Given the description of an element on the screen output the (x, y) to click on. 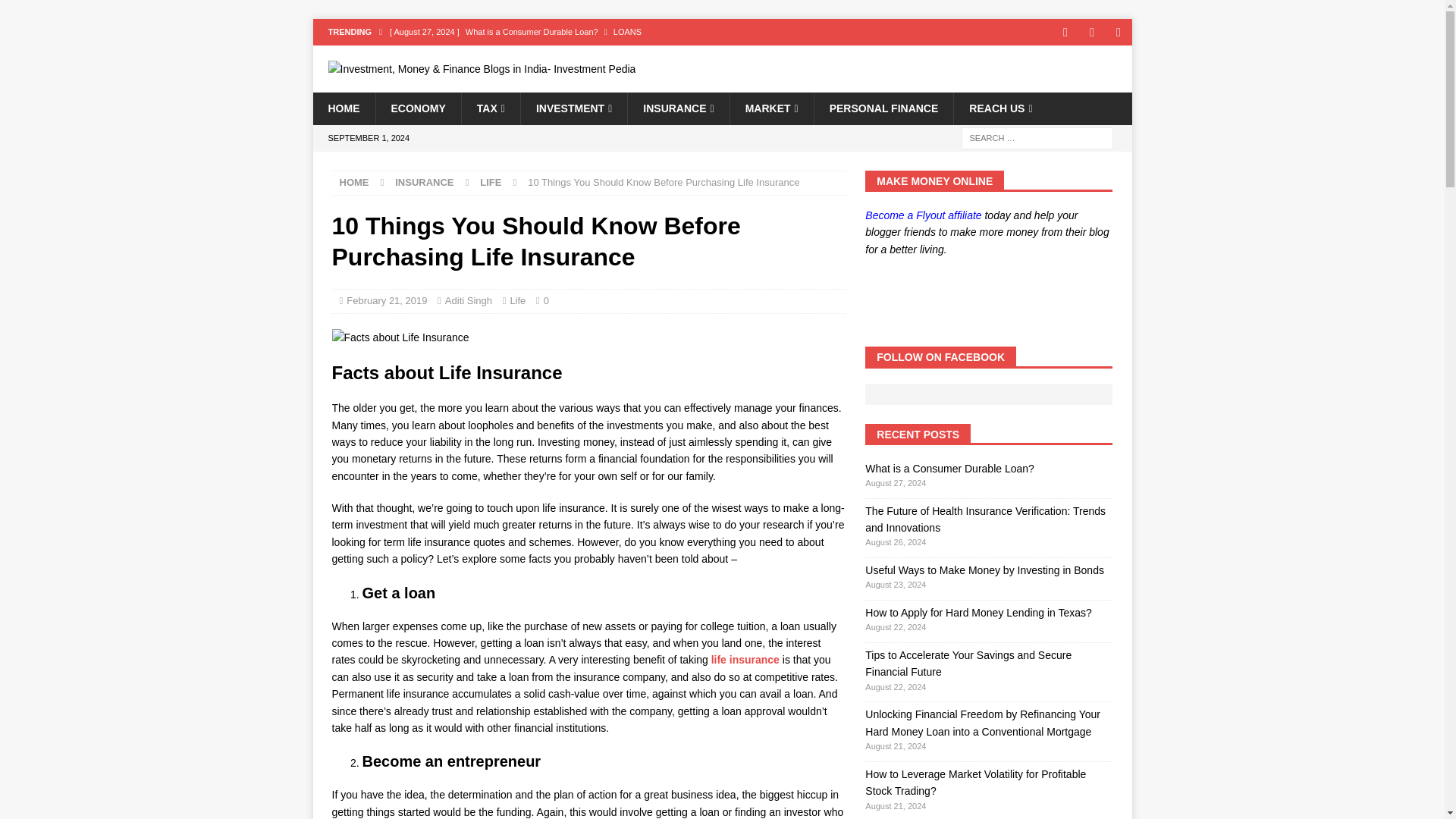
HOME (354, 182)
INVESTMENT (573, 108)
What is a Consumer Durable Loan? (620, 31)
ECONOMY (417, 108)
PERSONAL FINANCE (883, 108)
Aditi Singh (468, 300)
Life (517, 300)
REACH US (999, 108)
LIFE (490, 182)
Search (56, 11)
